Given the description of an element on the screen output the (x, y) to click on. 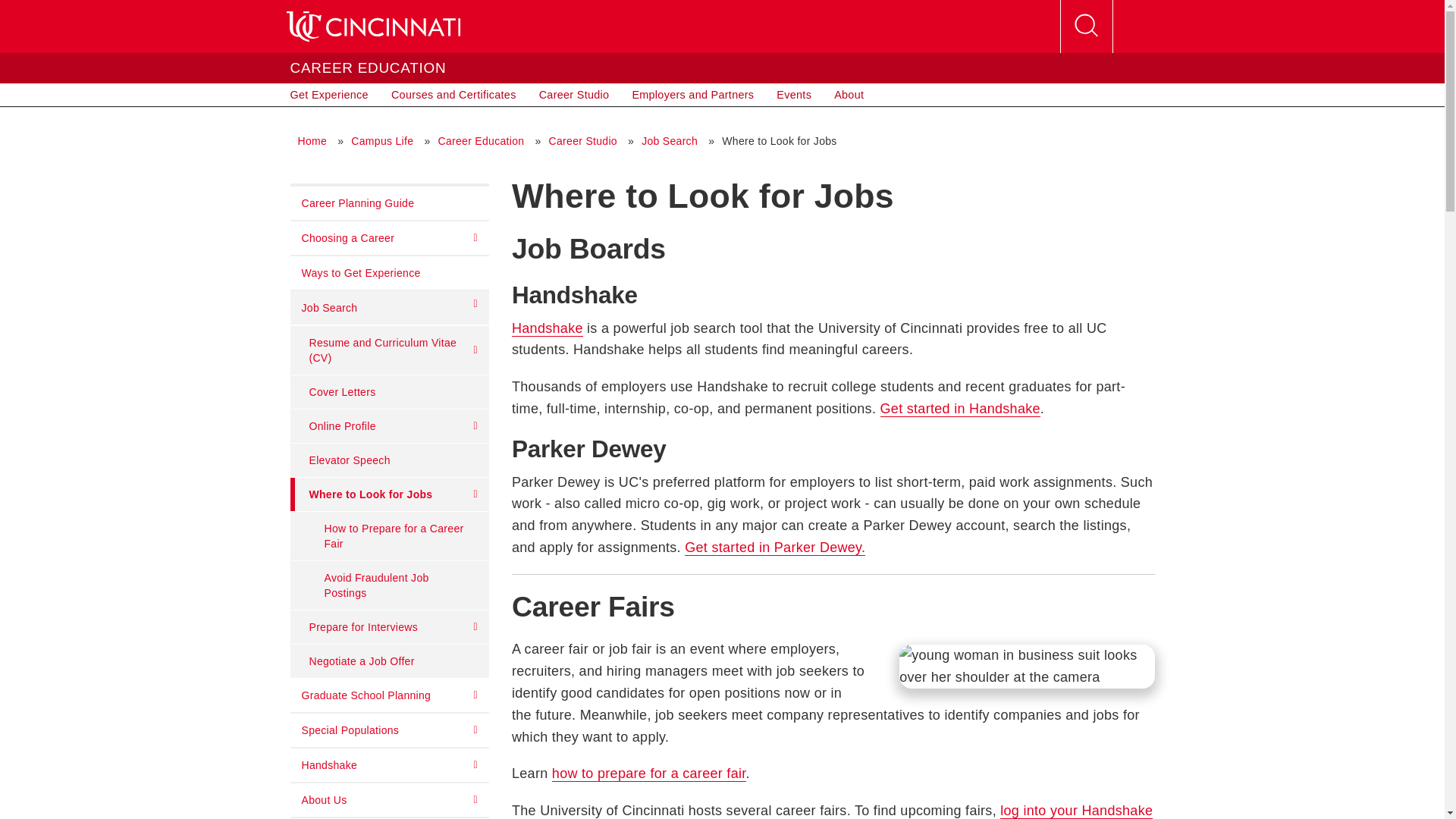
magnifying glass (1085, 25)
CAREER EDUCATION (367, 67)
Get Experience (329, 94)
magnifying glass (1086, 26)
